Given the description of an element on the screen output the (x, y) to click on. 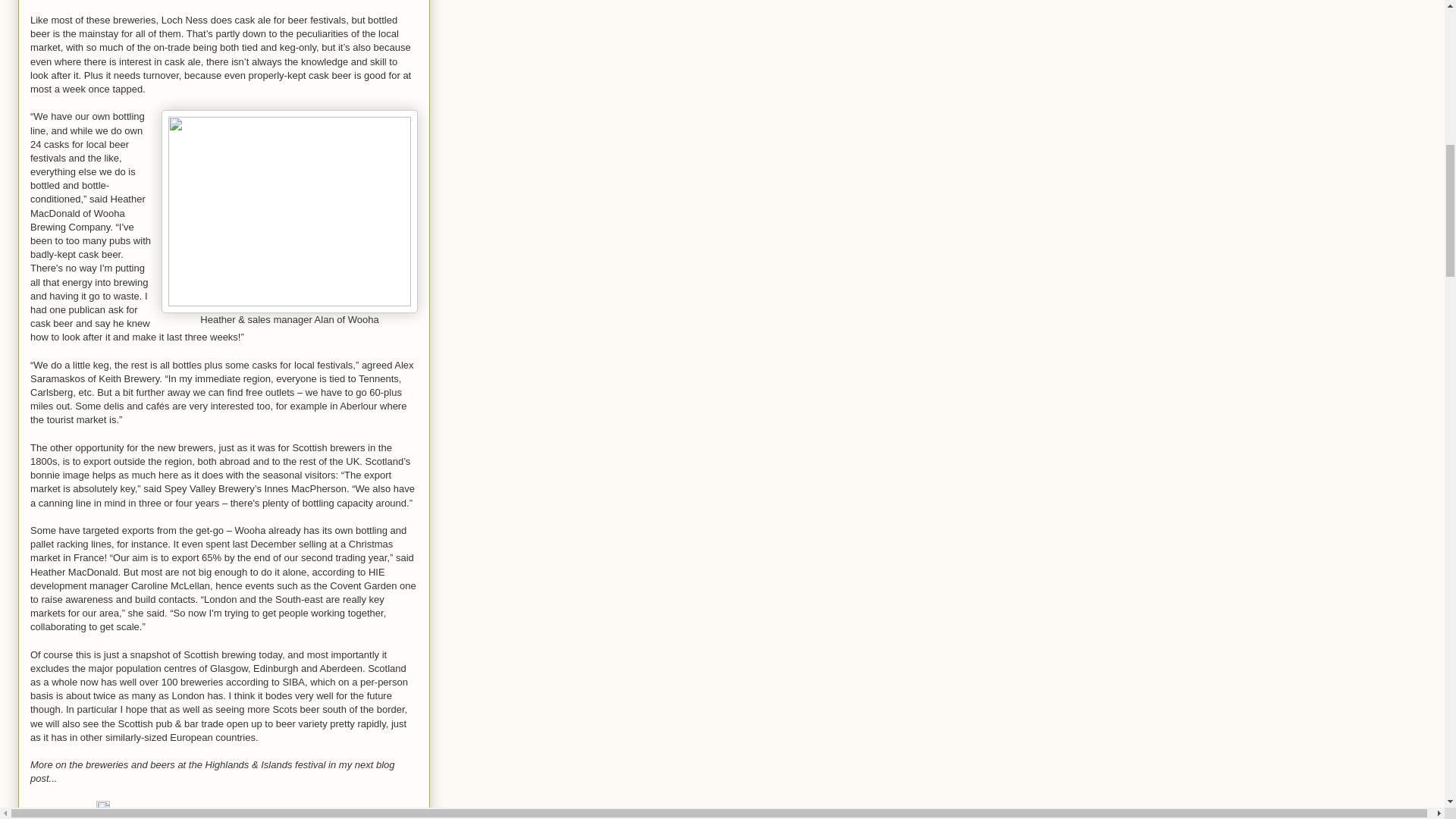
Share to Pinterest (308, 817)
Email Post (88, 810)
Edit Post (103, 810)
1:12 pm (58, 810)
Share to Twitter (151, 817)
Email This (52, 817)
Email This (52, 817)
BlogThis! (95, 817)
Share to Pinterest (308, 817)
Share to Facebook (227, 817)
Share to Facebook (227, 817)
Share to Twitter (151, 817)
permanent link (58, 810)
BlogThis! (95, 817)
